Given the description of an element on the screen output the (x, y) to click on. 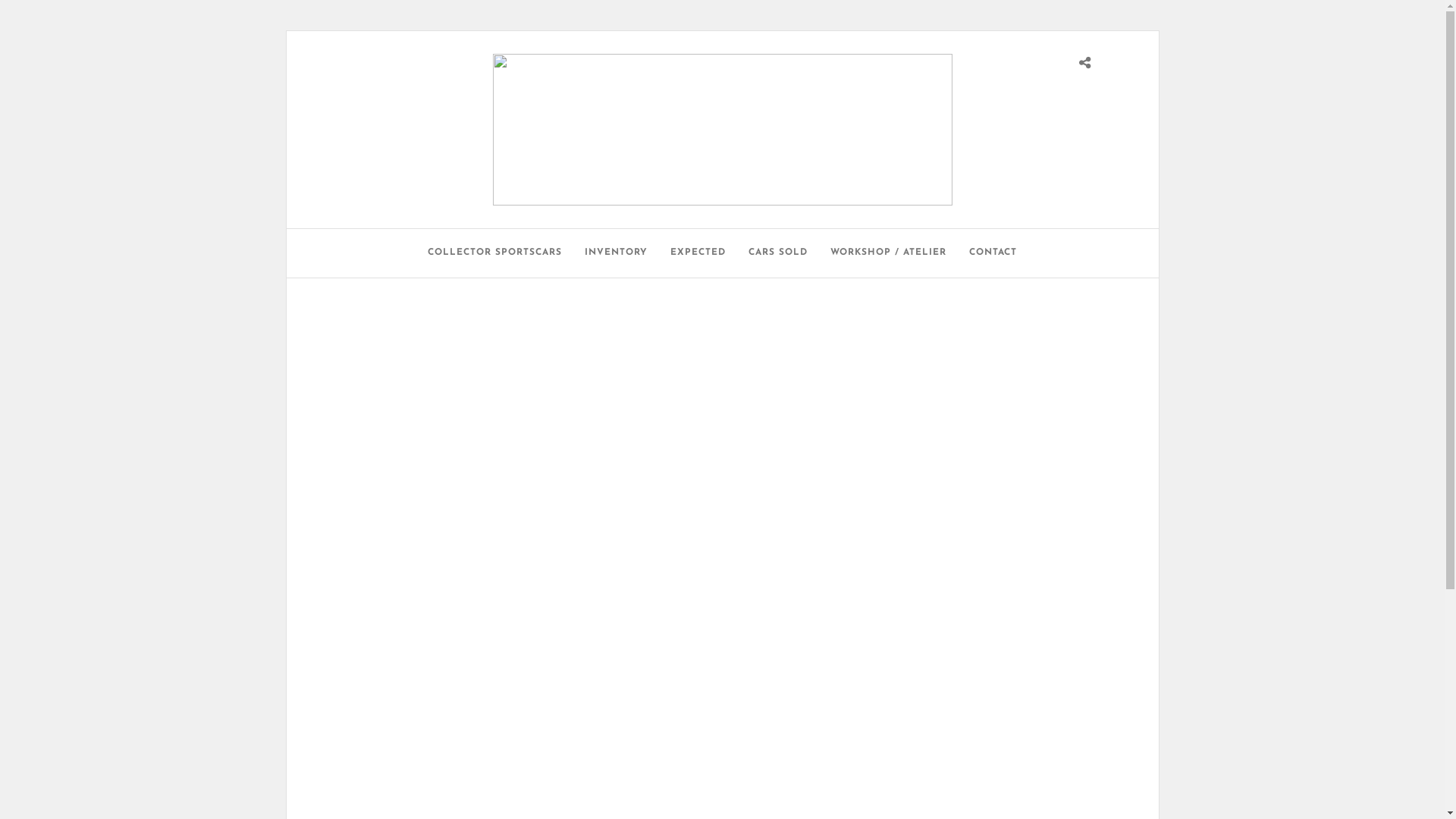
CONTACT Element type: text (992, 253)
COLLECTOR SPORTSCARS Element type: text (494, 253)
INVENTORY Element type: text (615, 253)
EXPECTED Element type: text (697, 253)
CARS SOLD Element type: text (777, 253)
WORKSHOP / ATELIER Element type: text (888, 253)
